Given the description of an element on the screen output the (x, y) to click on. 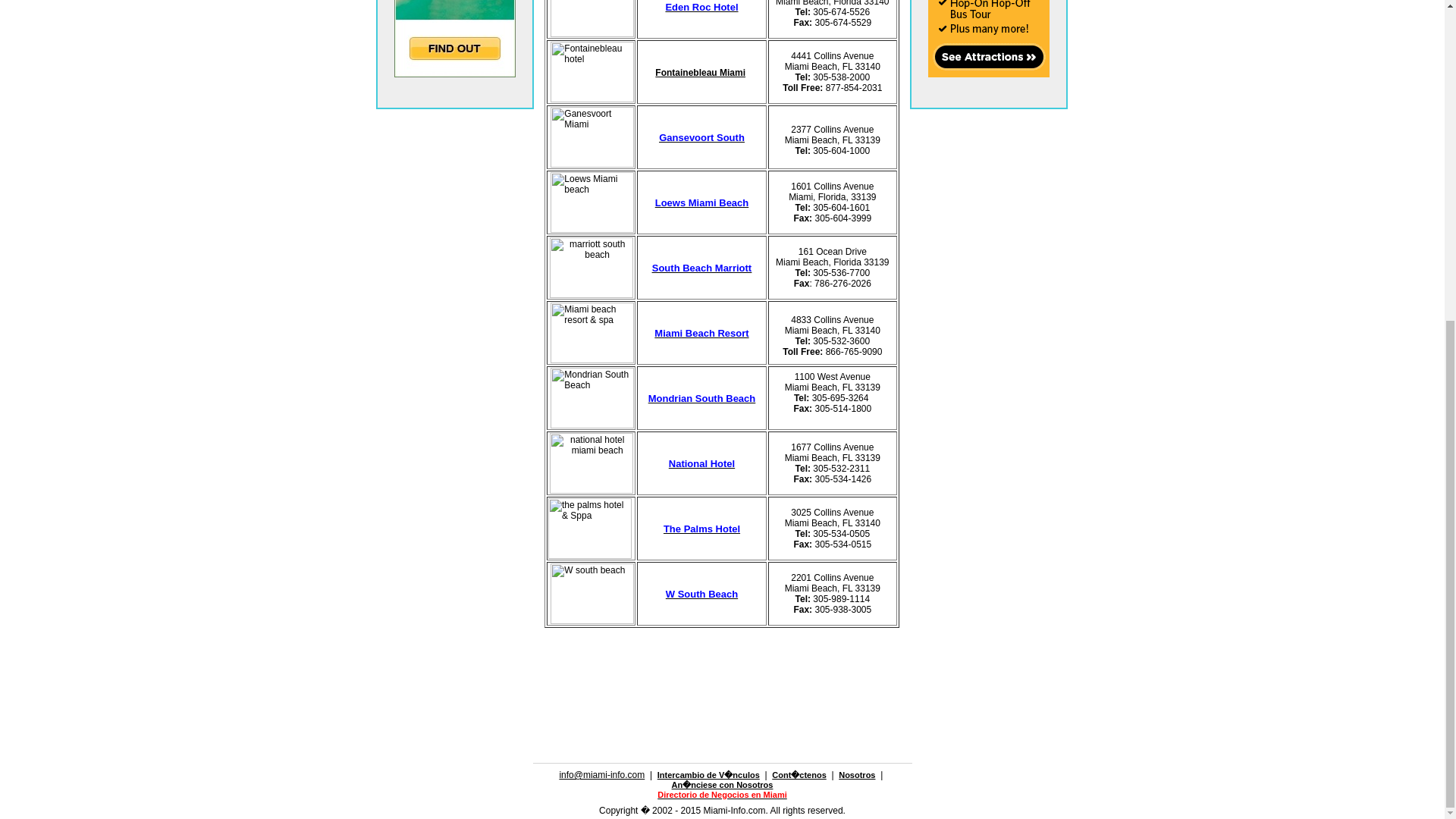
south beach marriott (701, 267)
marriott south beach (591, 267)
Ganesvoort Miami (591, 137)
eden roc hotel (591, 18)
Loews Miami beach (591, 201)
eden roc (701, 6)
Fontainebleau hotel (591, 71)
loews miami beach (702, 202)
Ganesvoort South Hotel (701, 136)
fontainebleau Hotel Miami (700, 71)
